Given the description of an element on the screen output the (x, y) to click on. 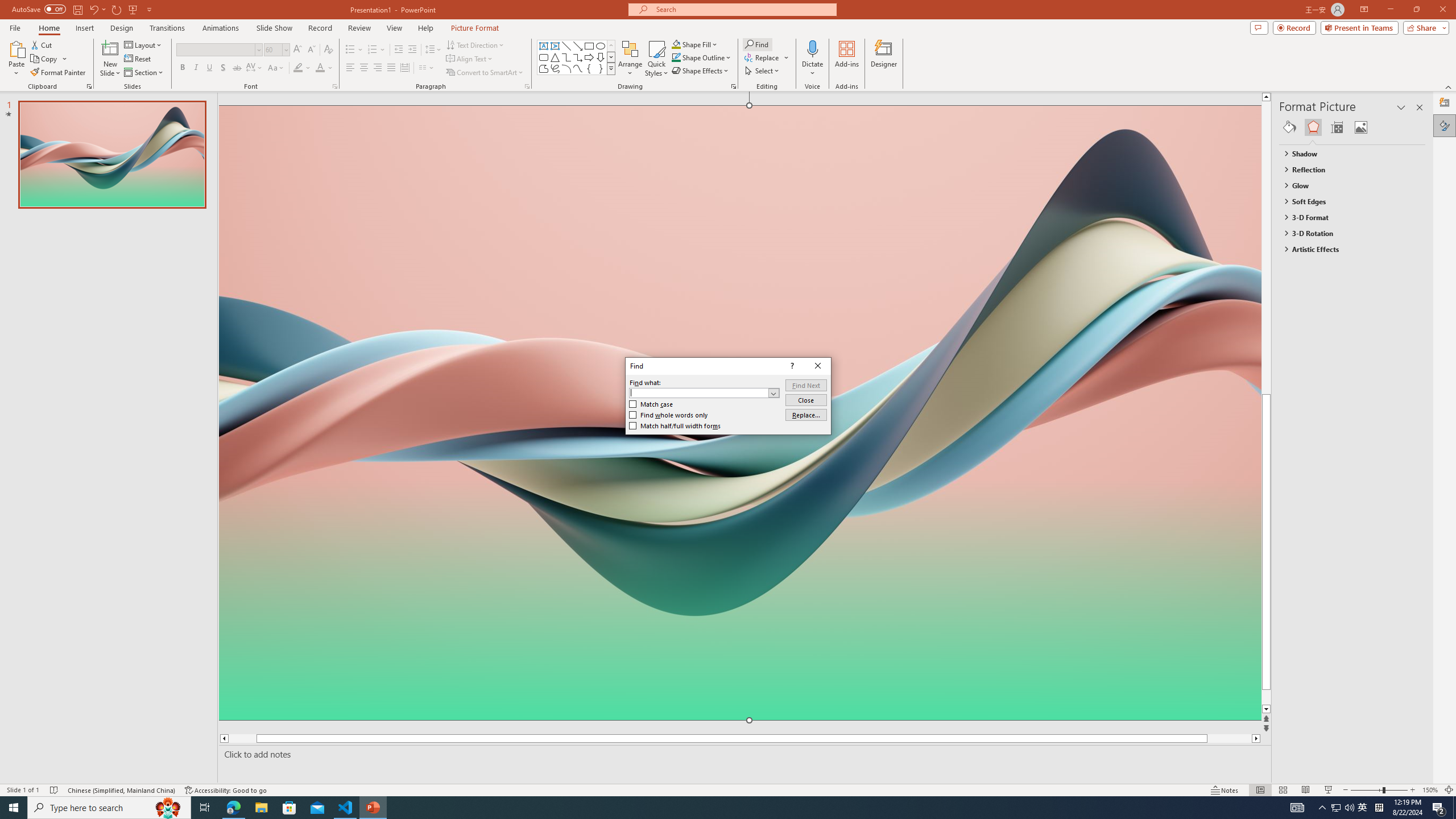
Find Next (805, 384)
Text Direction (476, 44)
Match half/full width forms (675, 425)
Font... (334, 85)
Strikethrough (237, 67)
Match case (651, 403)
Columns (426, 67)
